Given the description of an element on the screen output the (x, y) to click on. 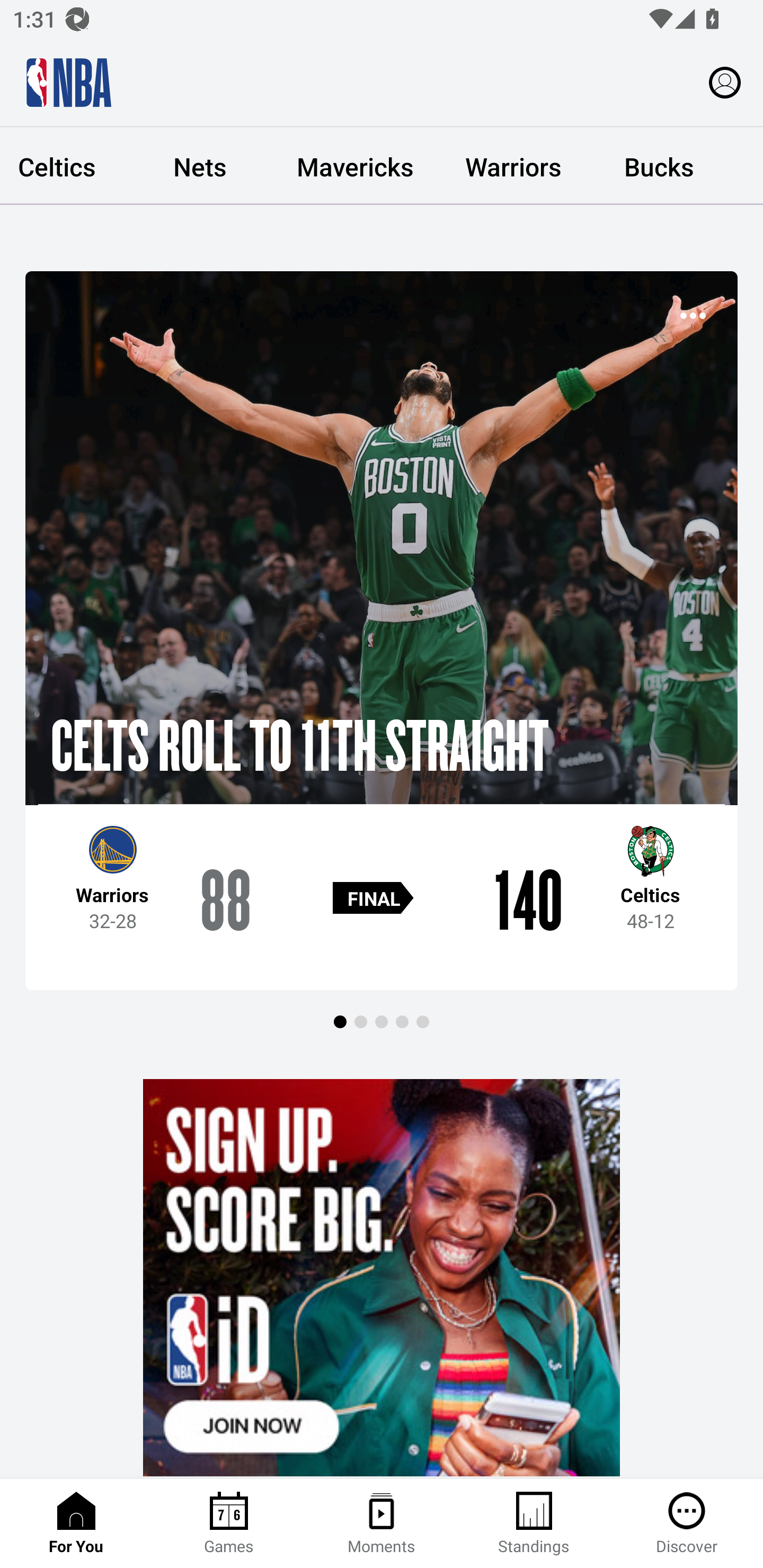
Profile (724, 81)
Celtics (64, 166)
Nets (199, 166)
Mavericks (355, 166)
Warriors (513, 166)
Bucks (658, 166)
Games (228, 1523)
Moments (381, 1523)
Standings (533, 1523)
Discover (686, 1523)
